Given the description of an element on the screen output the (x, y) to click on. 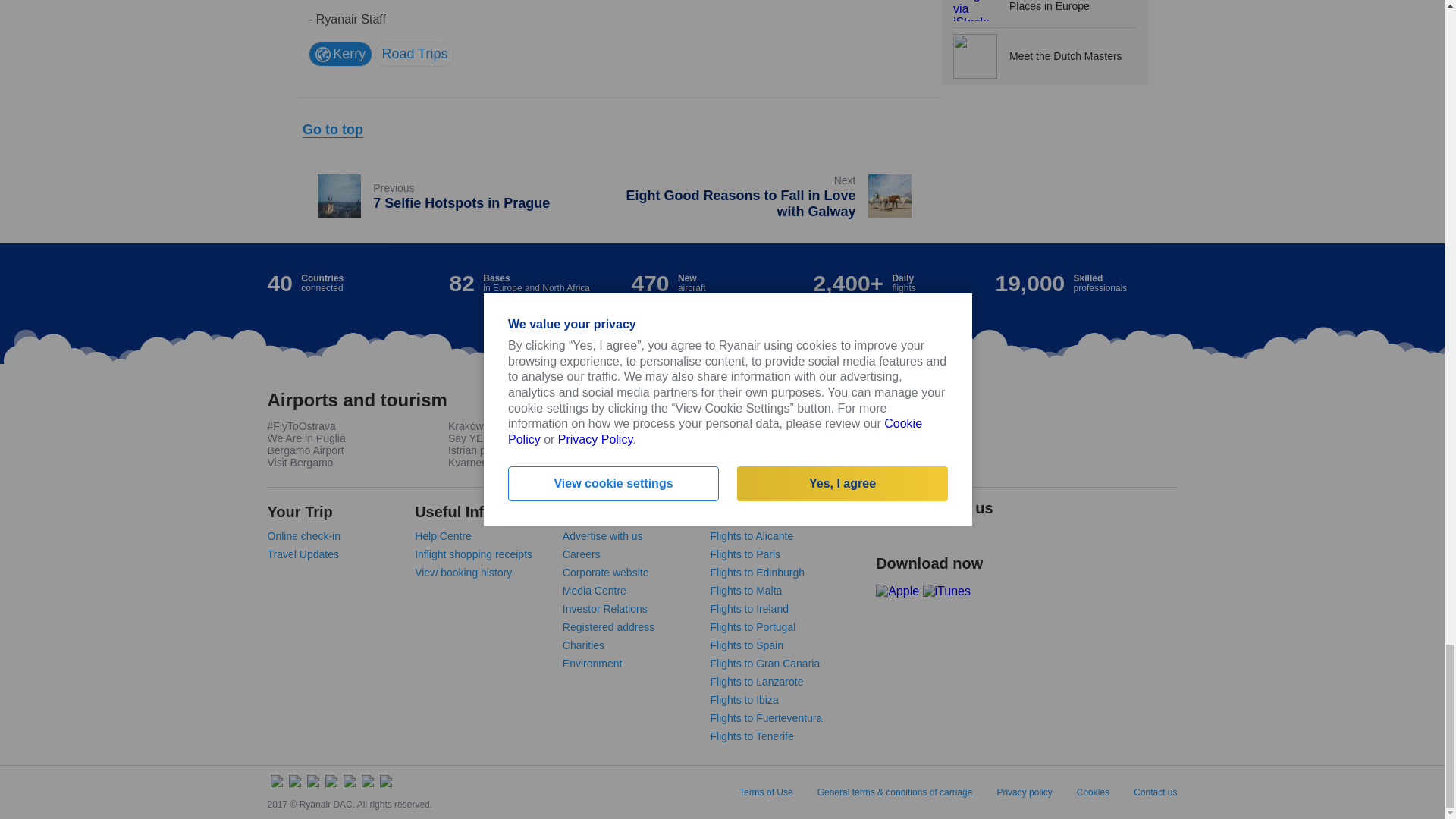
Go to top (332, 130)
We Are in Puglia (305, 438)
Kerry (454, 196)
Road Trips (770, 196)
Apple   (340, 53)
iTunes   (414, 53)
